Given the description of an element on the screen output the (x, y) to click on. 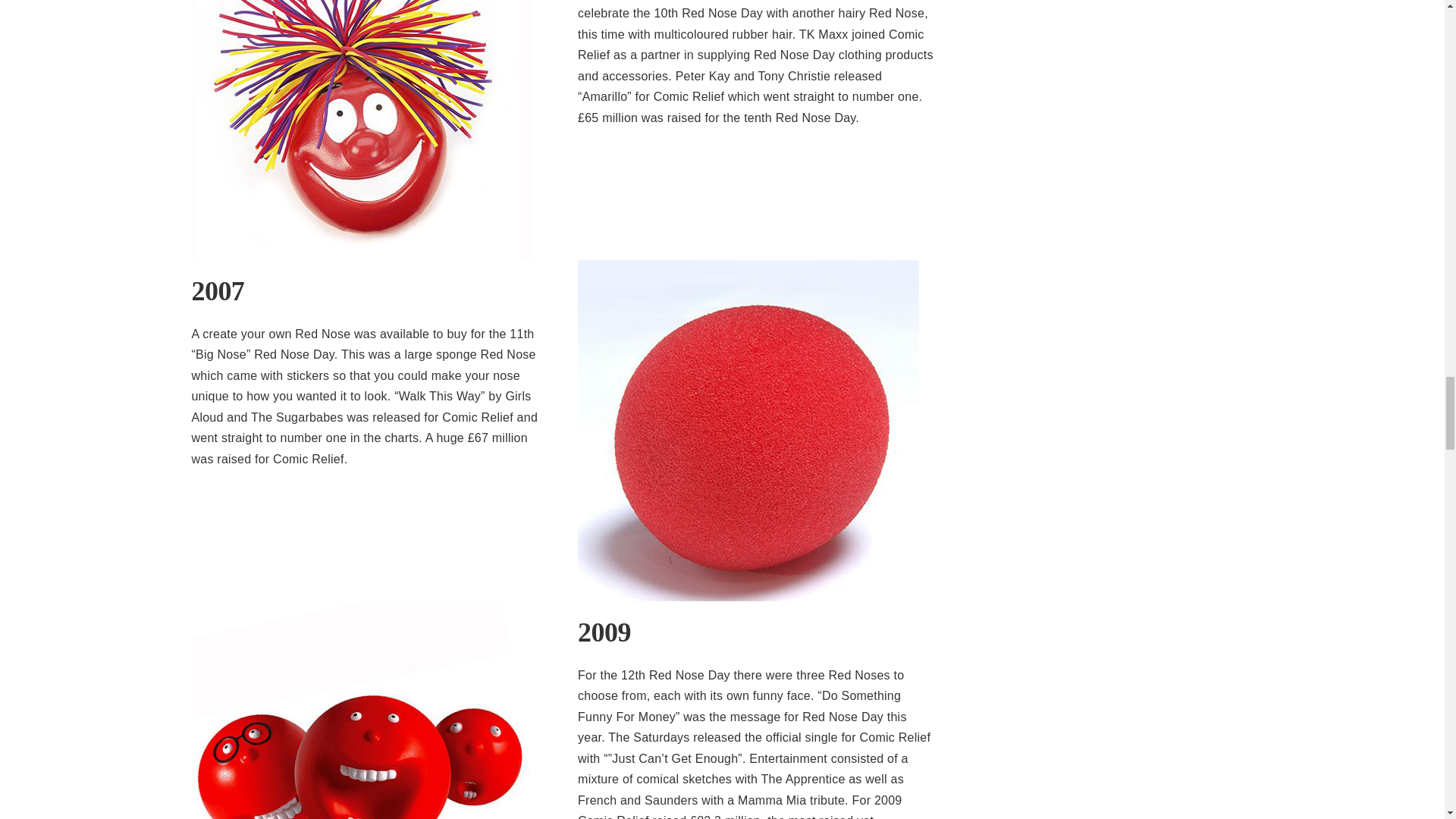
2005-Red-Nose-Day (361, 130)
2007-Red-Nose-Day (748, 430)
2009-Red-Nose-Day (361, 710)
